Given the description of an element on the screen output the (x, y) to click on. 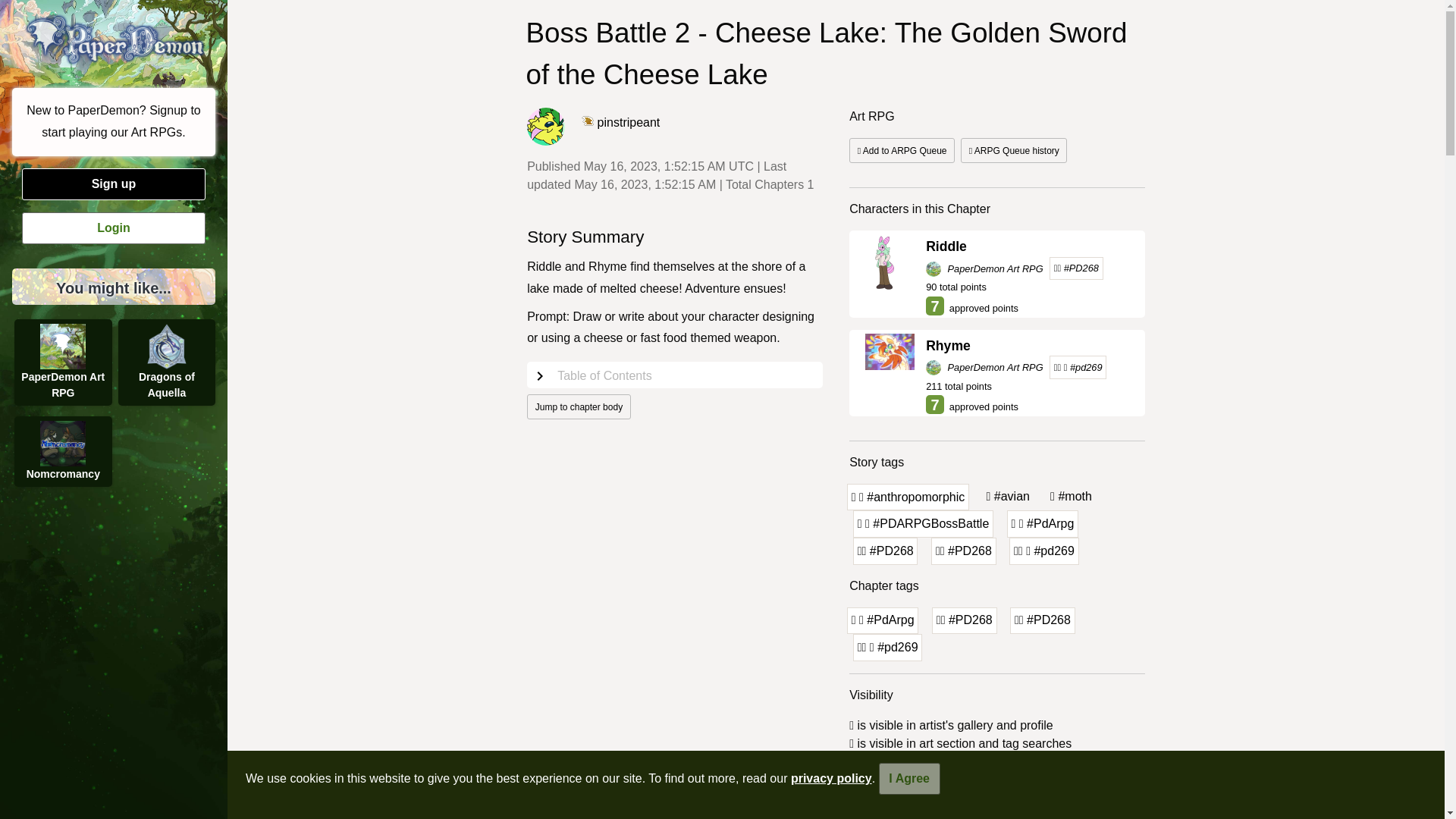
PaperDemon Art RPG (985, 367)
I Agree (909, 778)
Art RPG character tag (1042, 620)
privacy policy (831, 778)
pinstripeant (619, 122)
Nomcromancy (63, 451)
Table of Contents (674, 374)
Jump to chapter body (578, 406)
Art RPG character tag (885, 551)
Riddle (1029, 246)
Dragons of Aquella (166, 362)
Art RPG character tag (964, 620)
Rhyme (1029, 345)
Sign up (113, 183)
Login (113, 228)
